Given the description of an element on the screen output the (x, y) to click on. 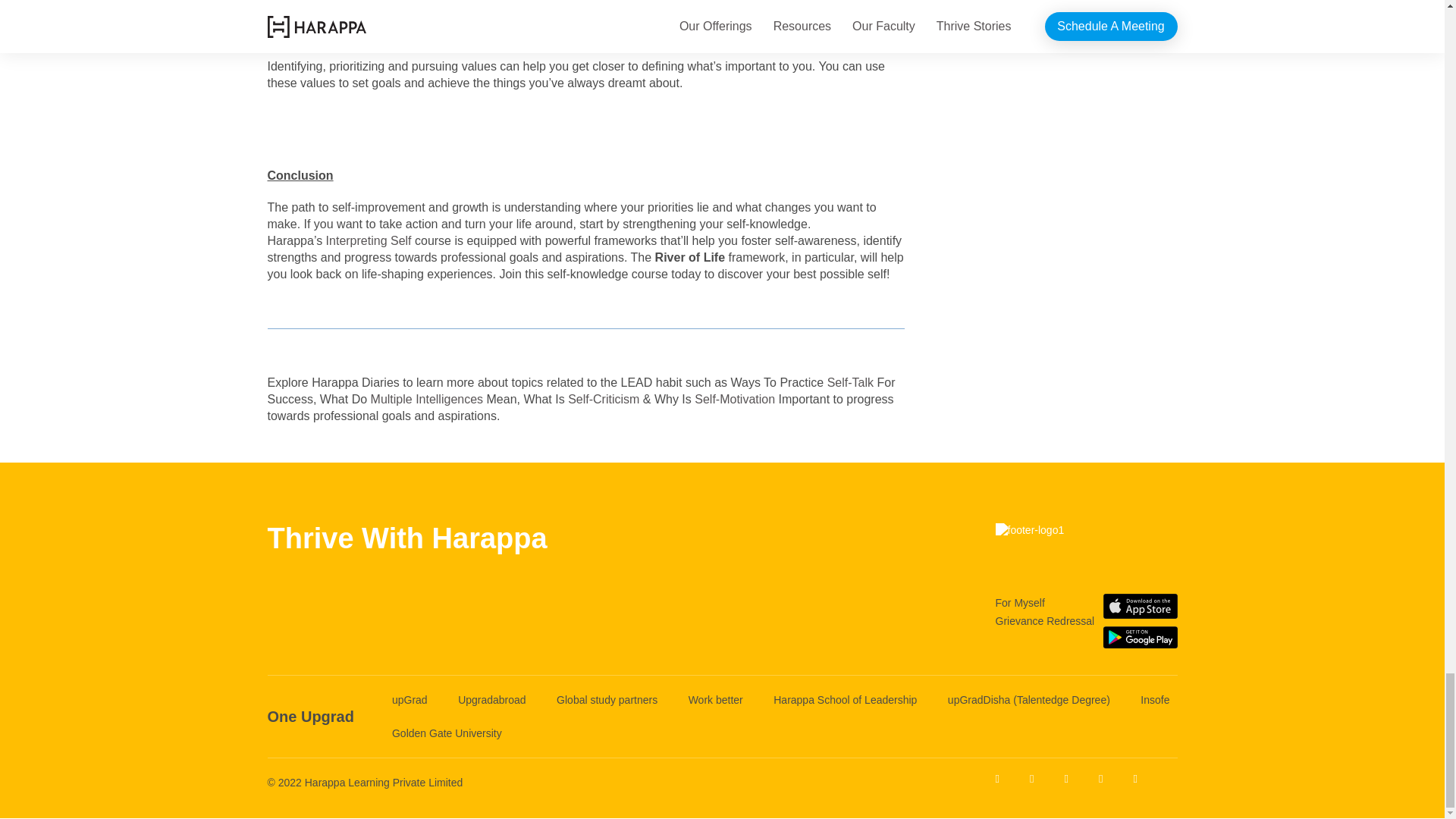
Multiple Intelligences (427, 399)
For Myself (1018, 602)
Interpreting Self (369, 240)
The Two Sides Of Self-Criticism (603, 399)
Self-Motivation (734, 399)
footer-logo1 (1085, 543)
Ways To Sustain Self-Motivation (734, 399)
Self-Criticism (603, 399)
Self-Talk (850, 382)
Meaning Of Self-Talk (850, 382)
